Given the description of an element on the screen output the (x, y) to click on. 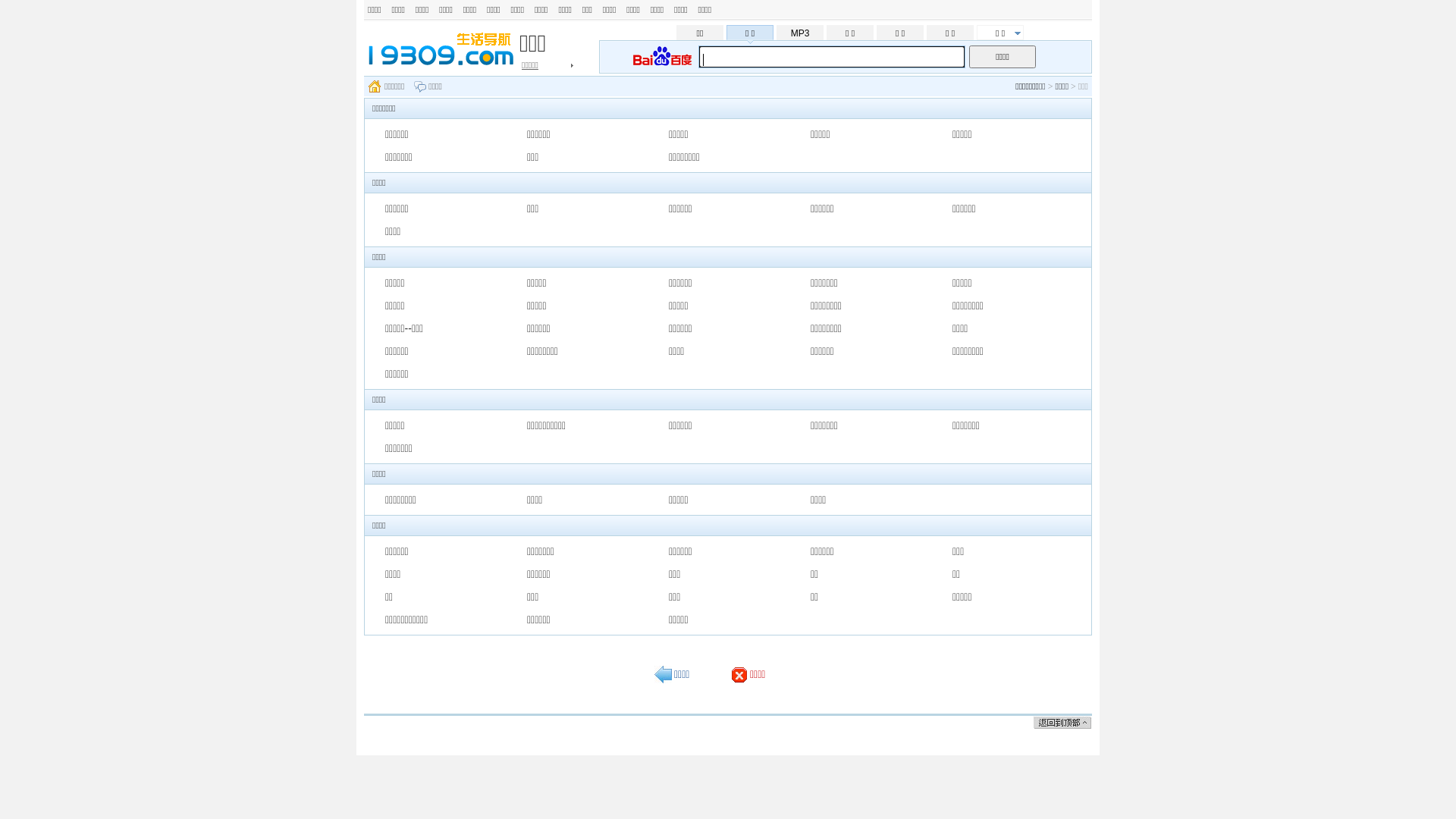
MP3 Element type: text (799, 32)
